Given the description of an element on the screen output the (x, y) to click on. 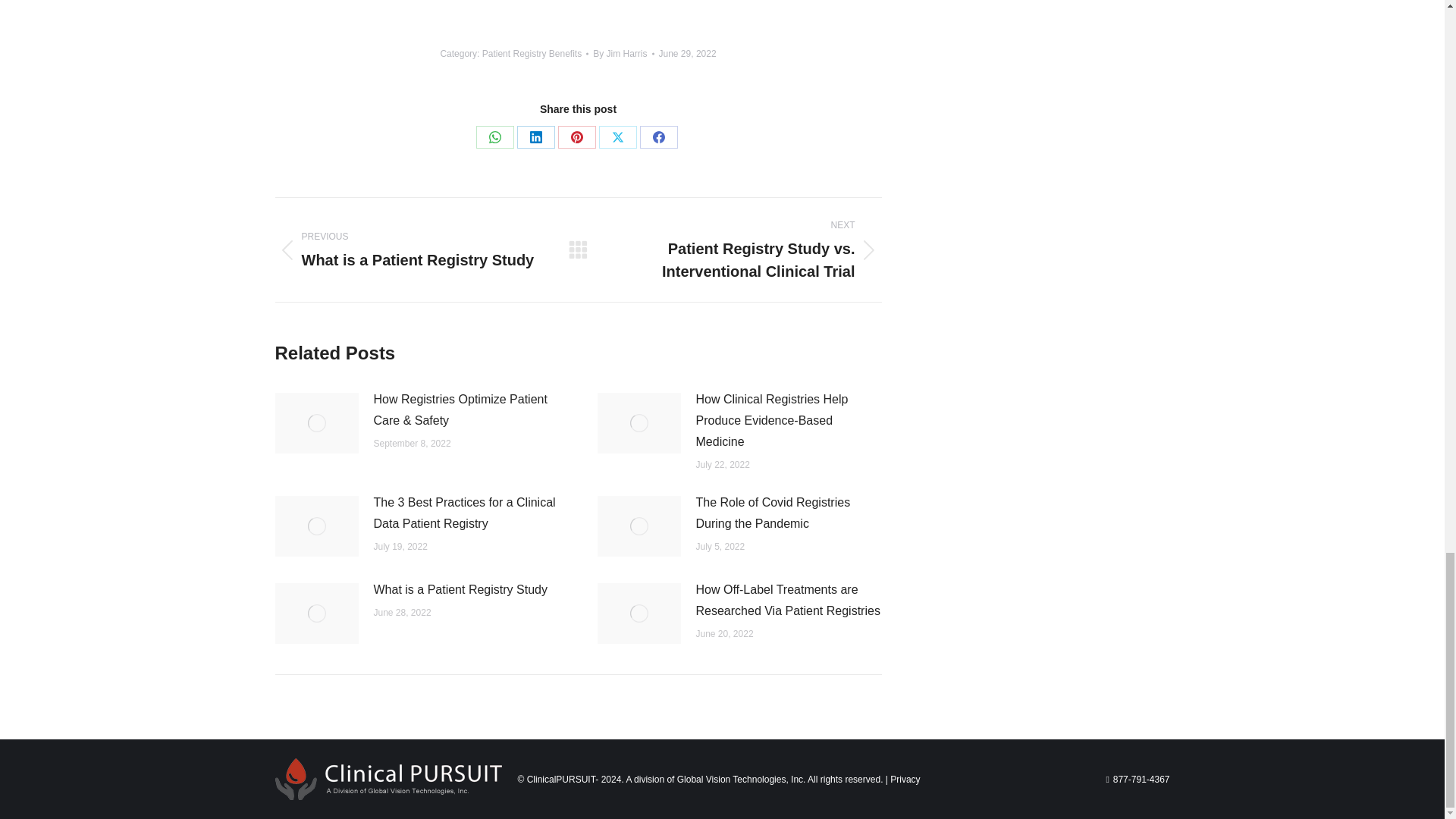
Pinterest (576, 137)
View all posts by Jim Harris (622, 53)
WhatsApp (494, 137)
8:12 am (687, 53)
LinkedIn (535, 137)
X (617, 137)
